Given the description of an element on the screen output the (x, y) to click on. 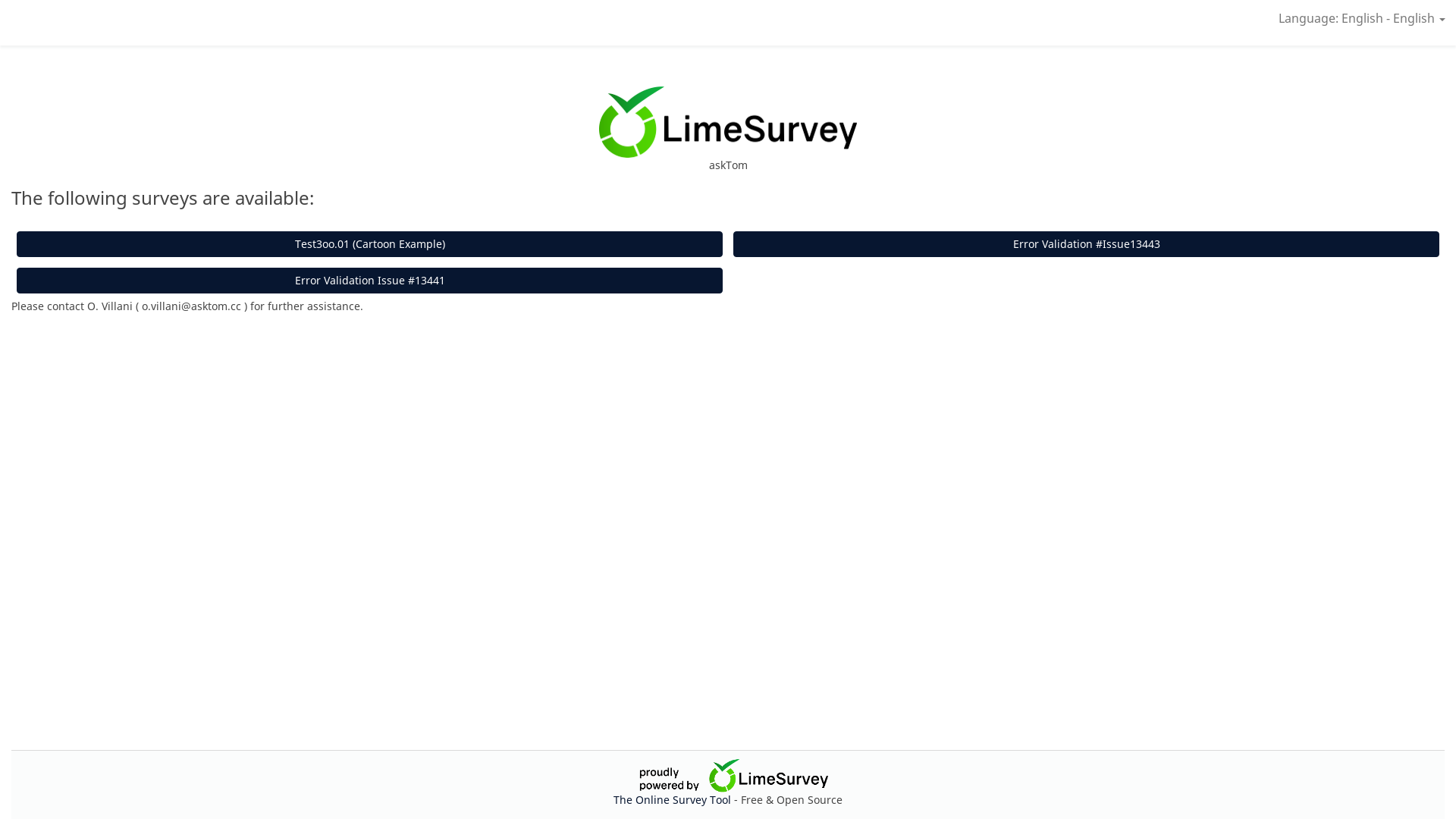
Error Validation #Issue13443 Element type: text (1086, 244)
Test3oo.01 (Cartoon Example) Element type: text (369, 244)
Error Validation Issue #13441 Element type: text (369, 280)
The Online Survey Tool Element type: text (673, 799)
